Given the description of an element on the screen output the (x, y) to click on. 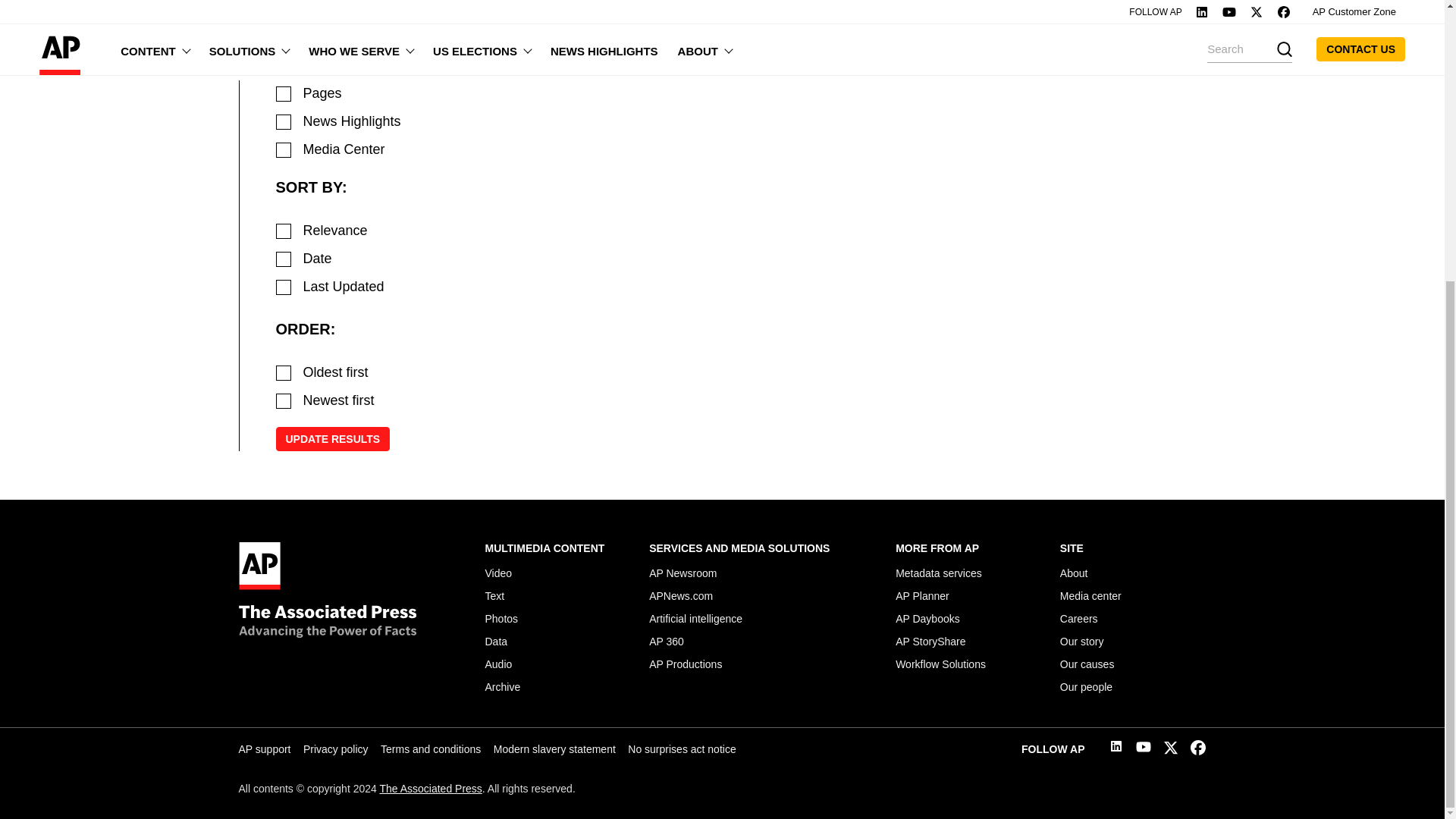
page (283, 93)
Facebook (1198, 750)
desc (283, 400)
date (283, 258)
modified (283, 287)
asc (283, 372)
all (283, 65)
post (283, 121)
Twitter (1170, 750)
ap-blog (283, 150)
Youtube (1143, 748)
Linkedin (1116, 748)
